Given the description of an element on the screen output the (x, y) to click on. 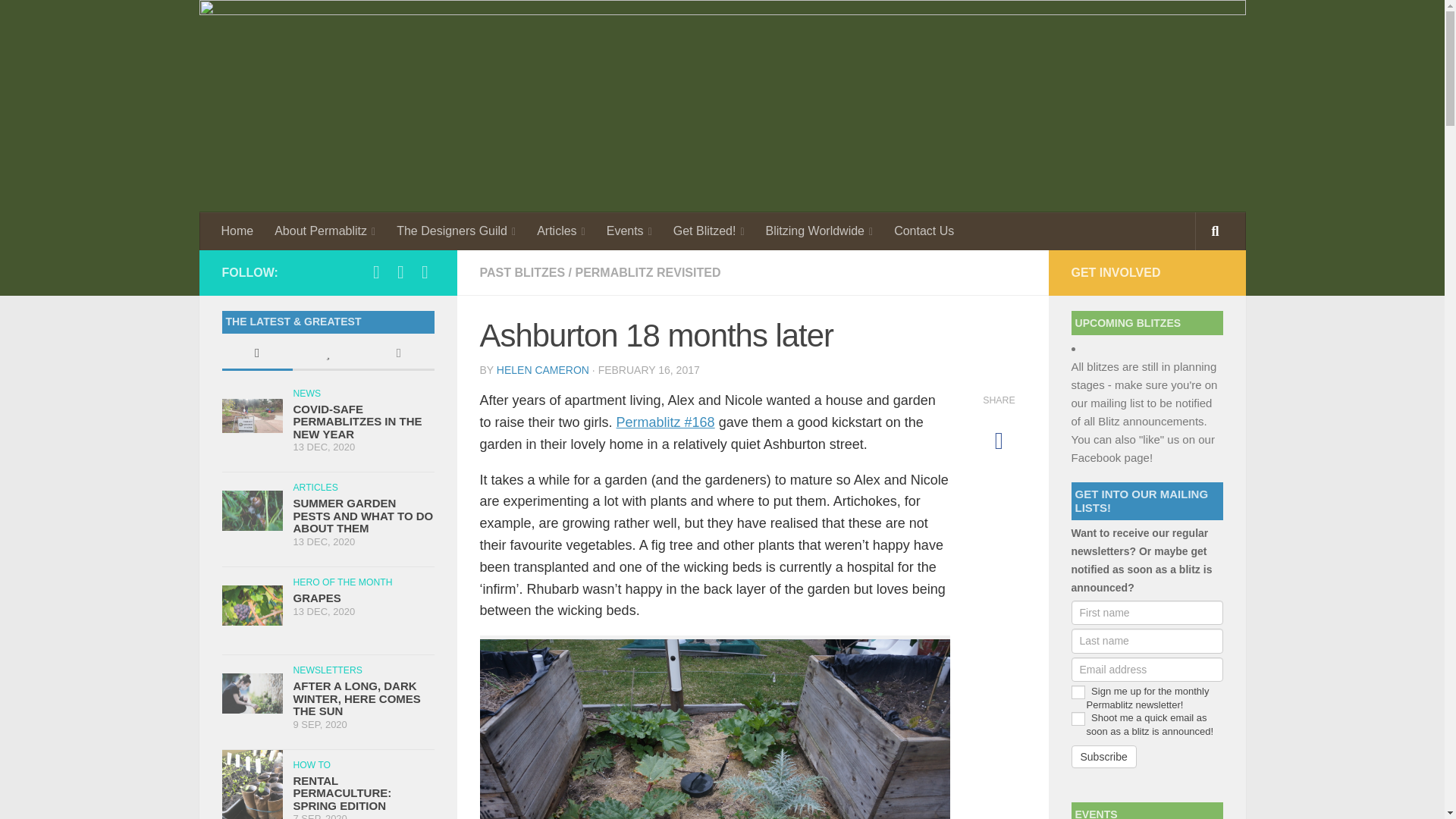
PERMABLITZ REVISITED (647, 272)
Shoot me a quick email as soon as a blitz is announced! (1077, 718)
Follow us on Youtube (423, 271)
Events (628, 231)
HELEN CAMERON (542, 369)
Get Blitzed! (708, 231)
About Permablitz (324, 231)
The Designers Guild (455, 231)
Home (237, 231)
Blitzing Worldwide (819, 231)
Subscribe (1102, 756)
Tags (397, 354)
PAST BLITZES (521, 272)
Contact Us (923, 231)
Recent Posts (256, 354)
